Given the description of an element on the screen output the (x, y) to click on. 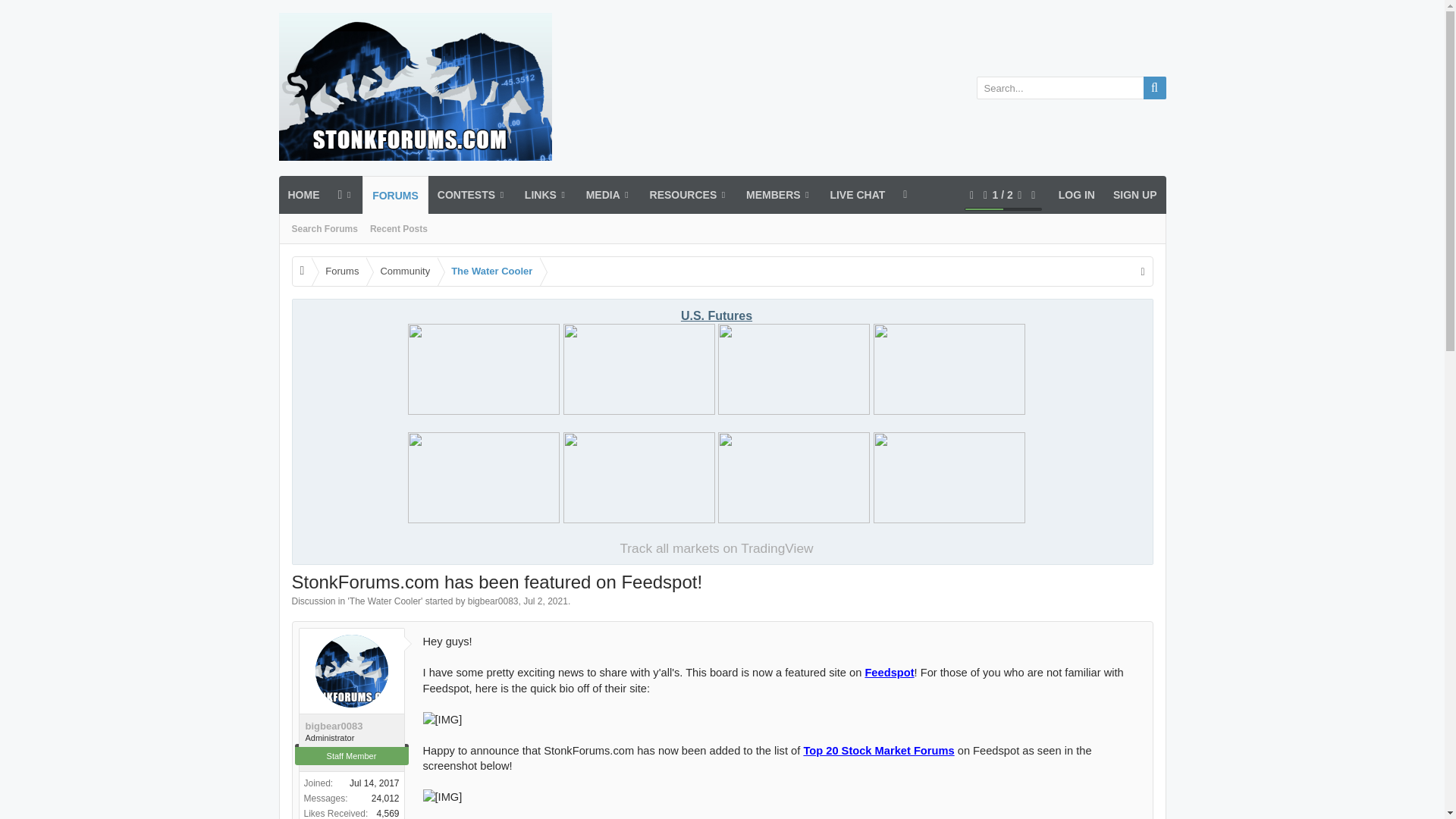
Jul 2, 2021 at 2:45 PM (1071, 87)
